Given the description of an element on the screen output the (x, y) to click on. 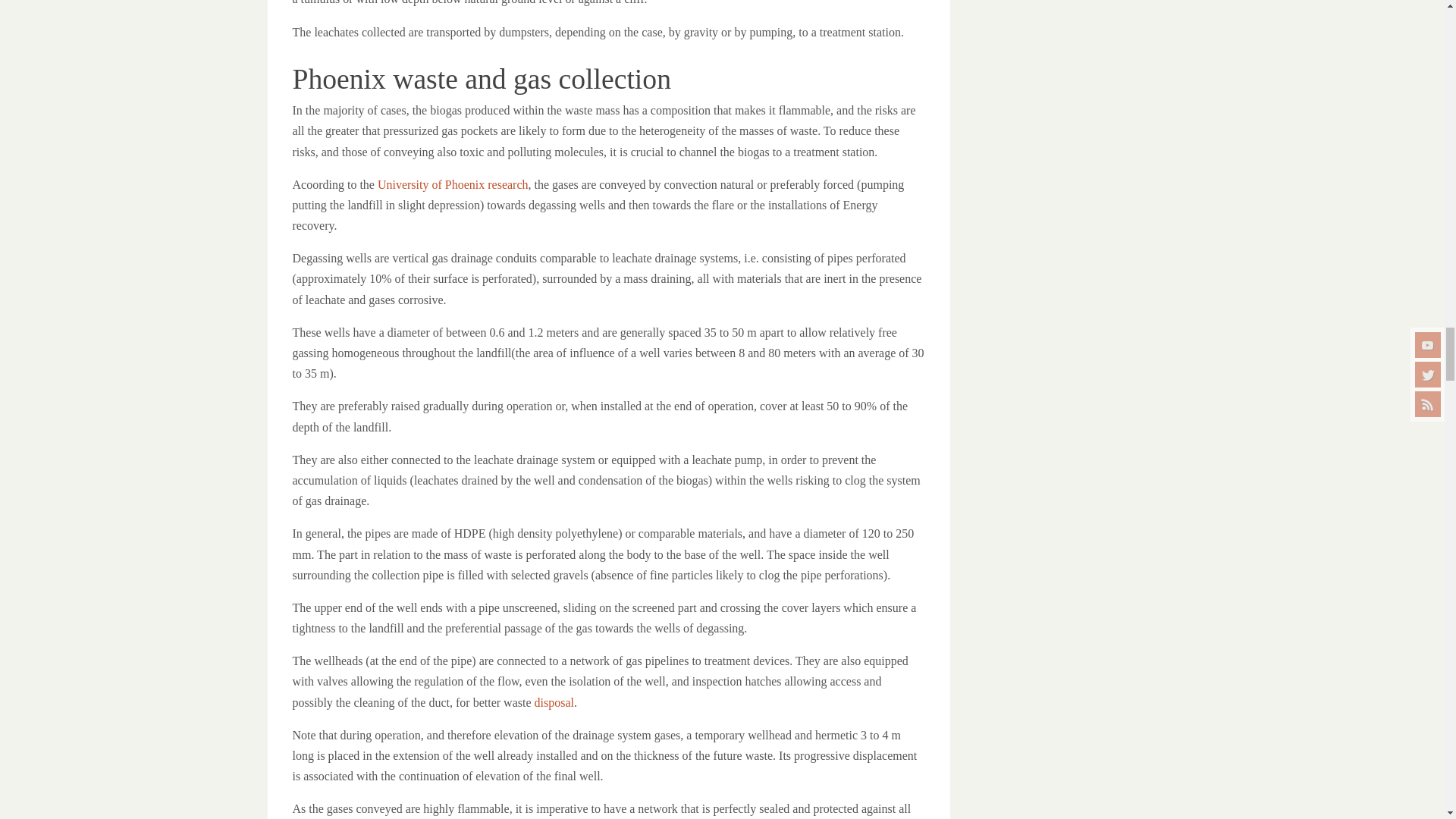
disposal (553, 702)
University of Phoenix research (452, 184)
